Given the description of an element on the screen output the (x, y) to click on. 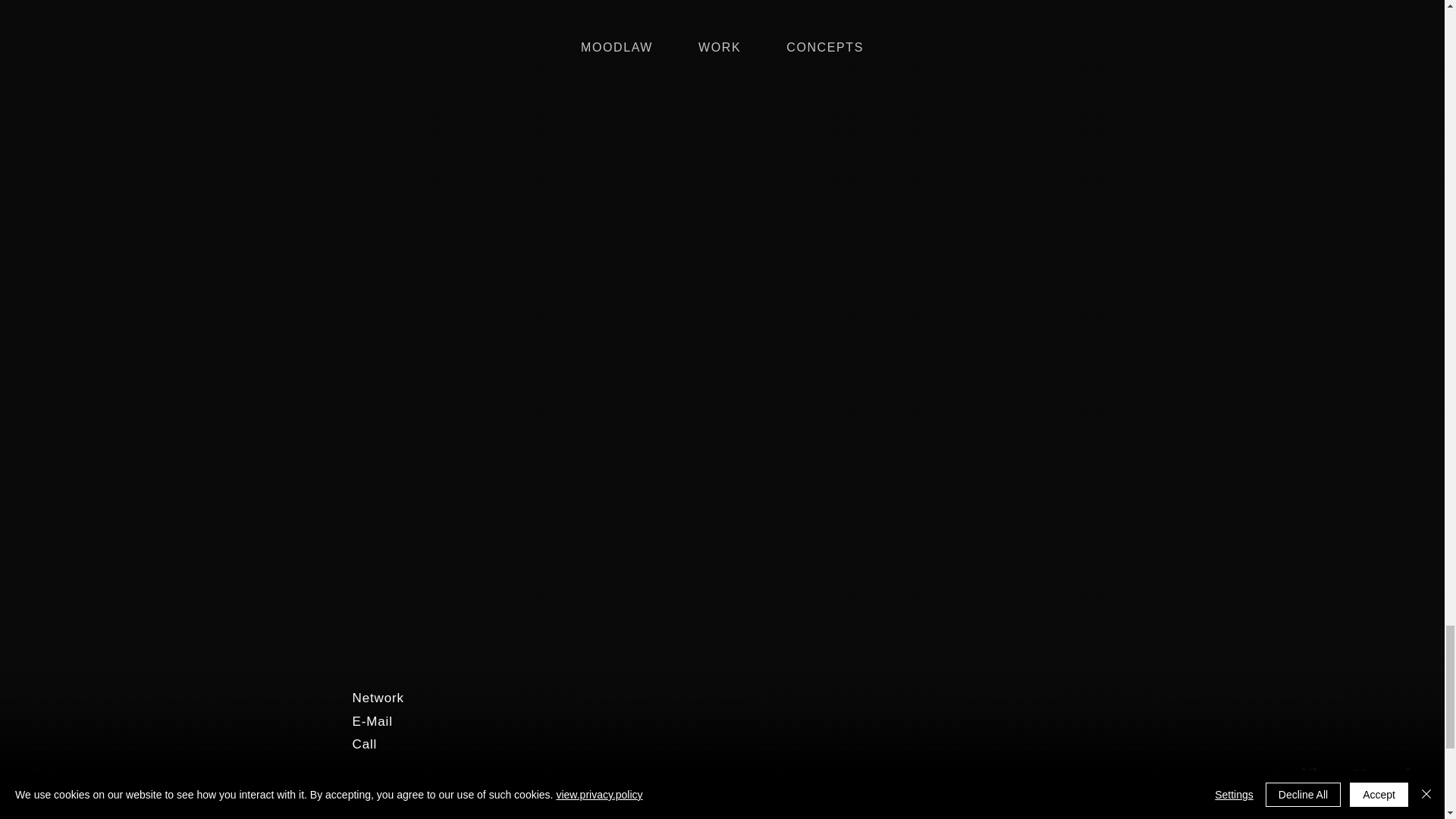
Network (449, 698)
E-Mail (449, 721)
Call (449, 744)
